Given the description of an element on the screen output the (x, y) to click on. 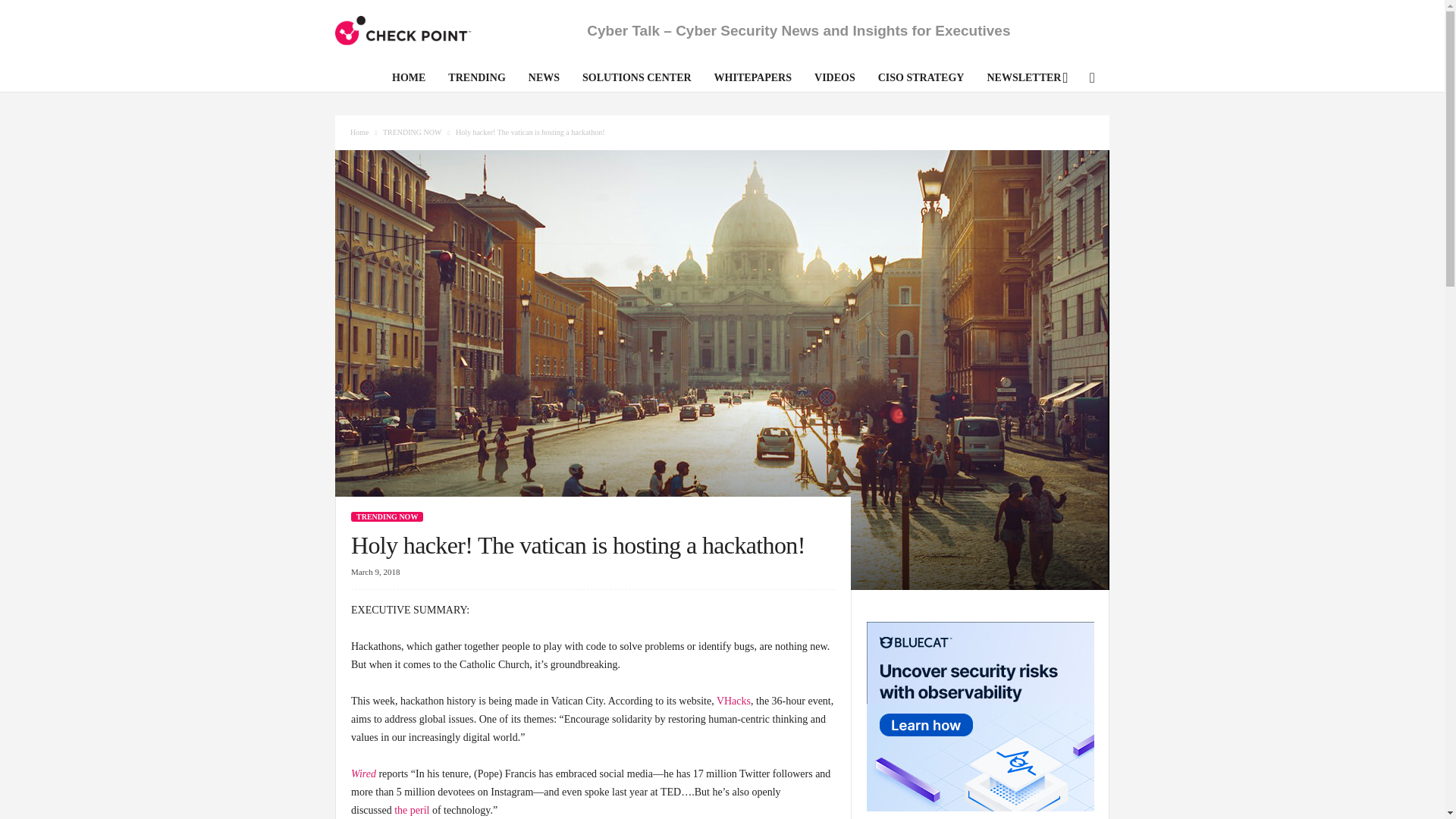
VIDEOS (834, 79)
CISO STRATEGY (920, 79)
NEWSLETTER (1023, 79)
TRENDING NOW (412, 131)
NEWS (543, 79)
SOLUTIONS CENTER (636, 79)
WHITEPAPERS (753, 79)
CyberTalk.org (402, 30)
TRENDING NOW (386, 516)
View all posts in TRENDING NOW (412, 131)
